Given the description of an element on the screen output the (x, y) to click on. 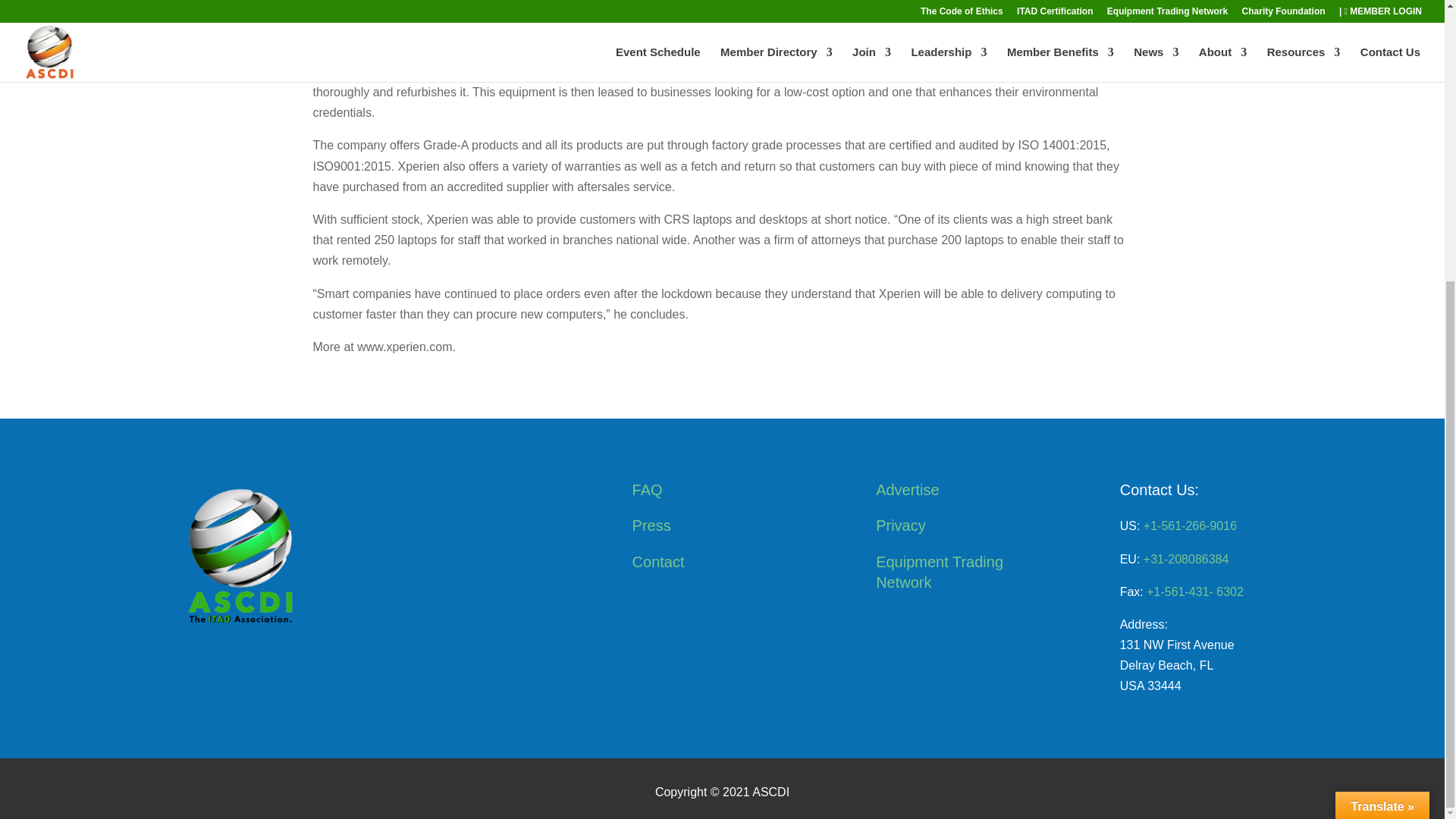
cropped-ASCDI-2020-LOGO-no-tagline3.png (234, 555)
